Given the description of an element on the screen output the (x, y) to click on. 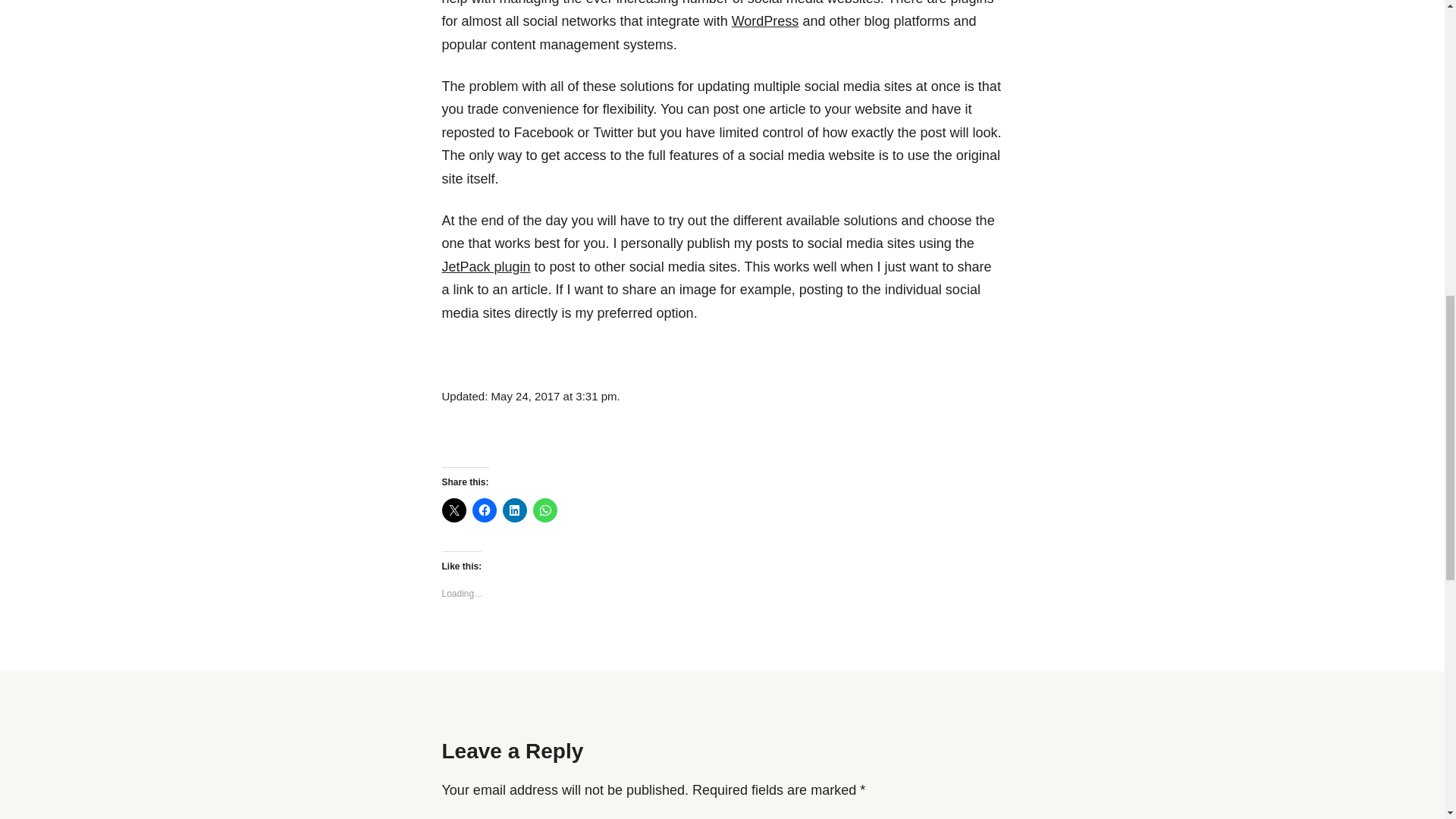
WordPress (765, 20)
Click to share on WhatsApp (544, 509)
Click to share on Facebook (483, 509)
Click to share on LinkedIn (513, 509)
JetPack plugin (485, 266)
Click to share on X (453, 509)
